Given the description of an element on the screen output the (x, y) to click on. 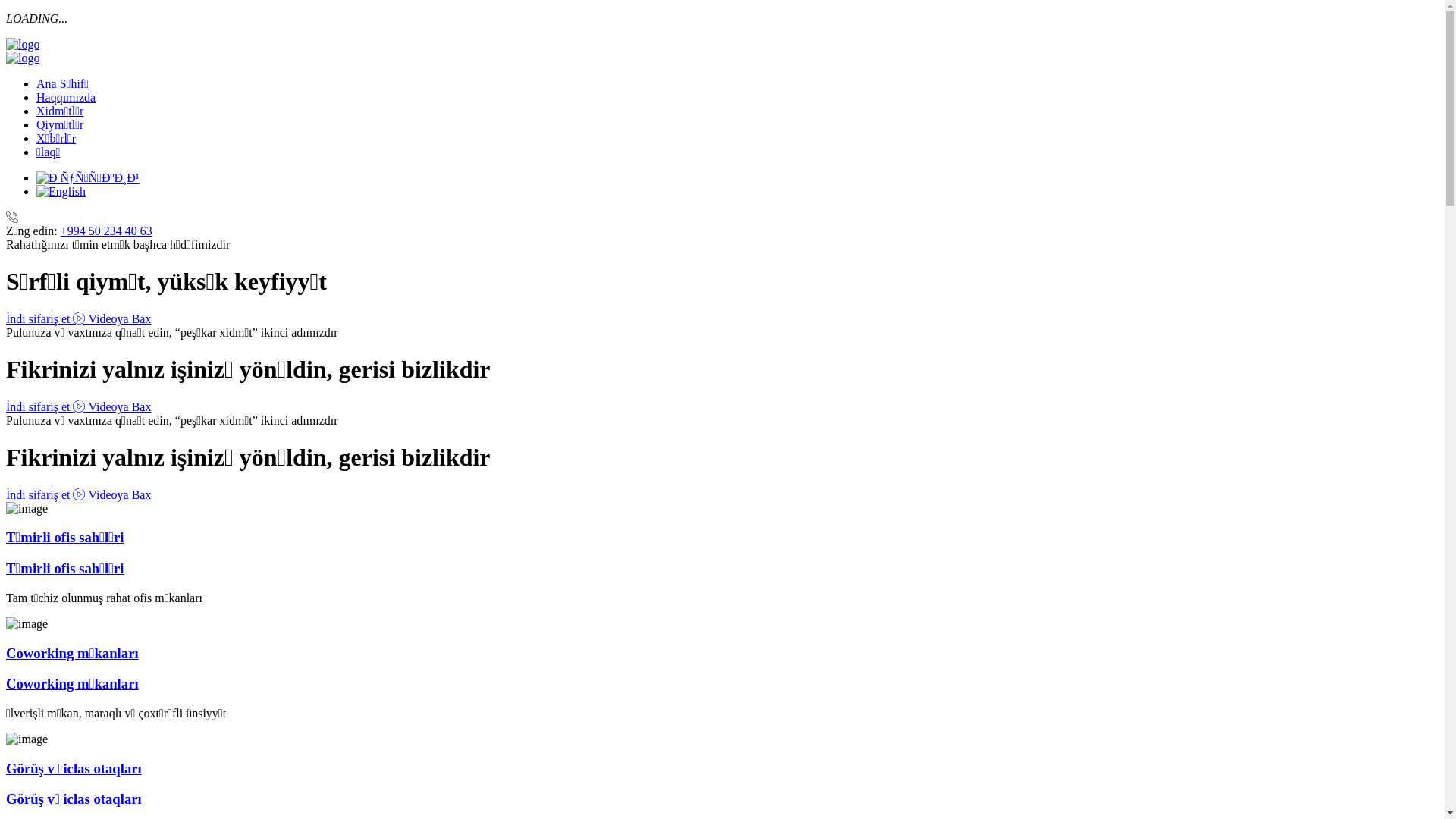
Videoya Bax Element type: text (111, 318)
Videoya Bax Element type: text (111, 406)
English Element type: hover (60, 191)
Videoya Bax Element type: text (111, 494)
+994 50 234 40 63 Element type: text (106, 230)
